Given the description of an element on the screen output the (x, y) to click on. 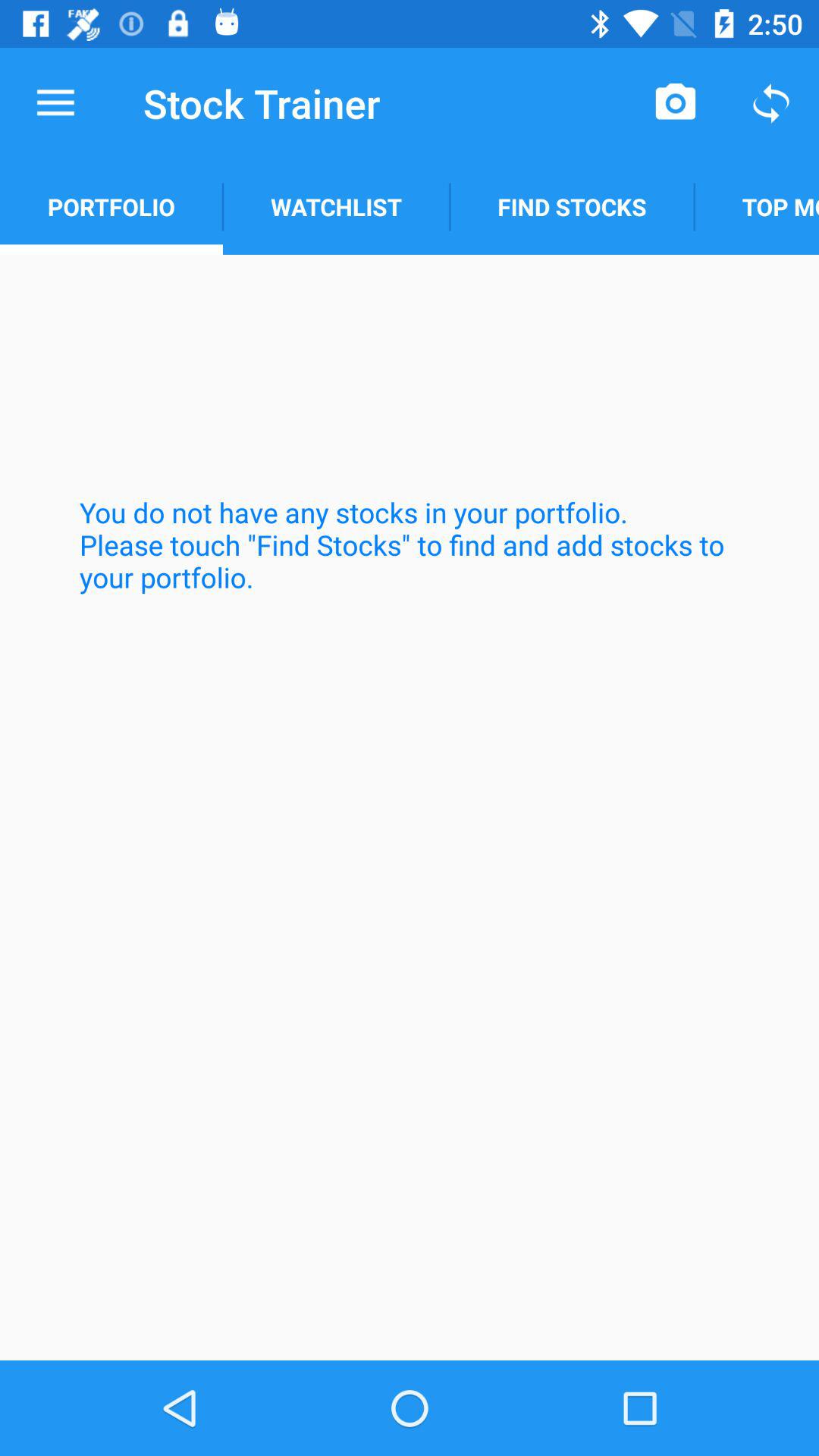
select icon next to the portfolio app (335, 206)
